Given the description of an element on the screen output the (x, y) to click on. 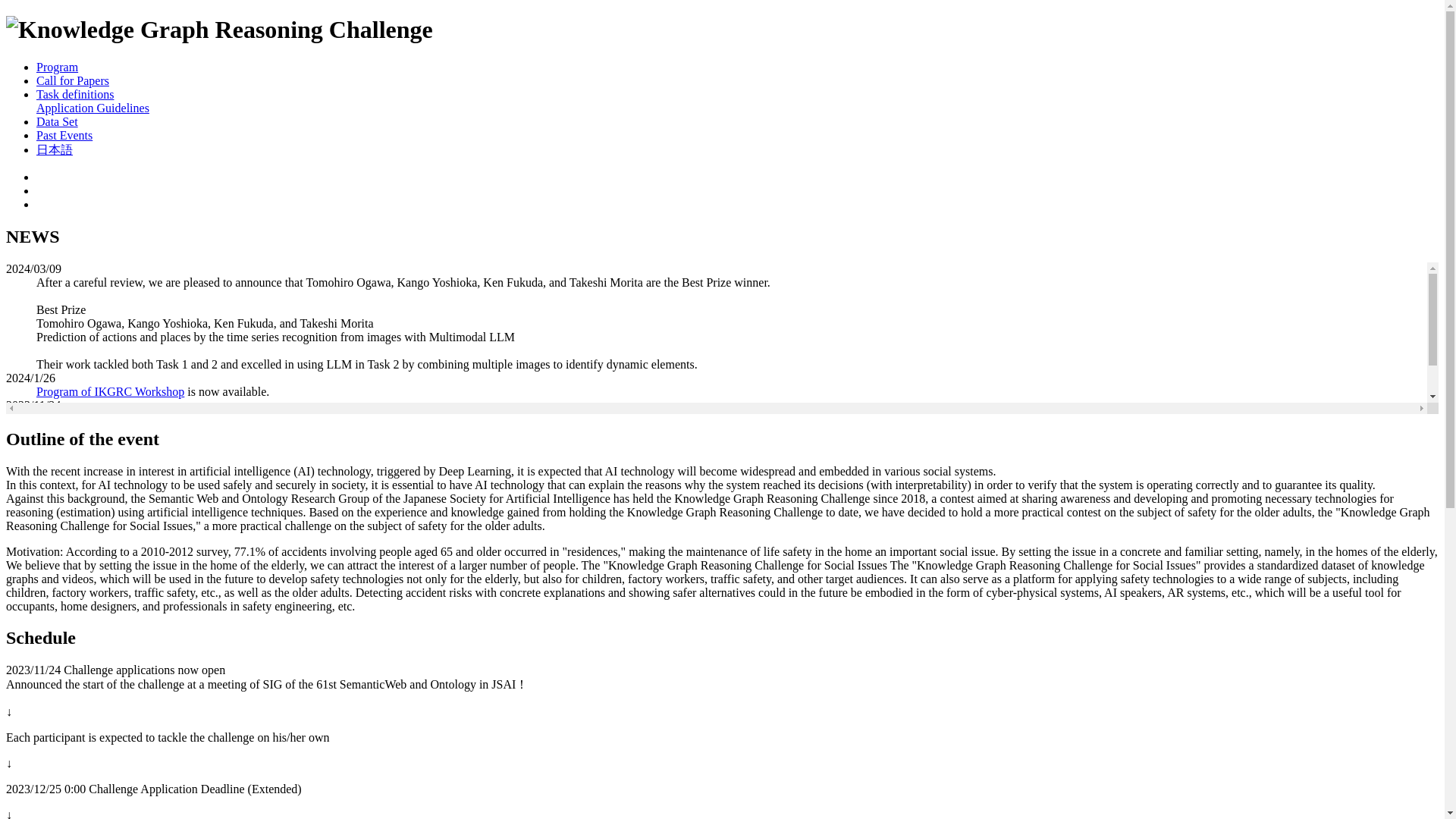
Past Events (64, 134)
Data Set (57, 121)
Program (57, 66)
Call for Papers (72, 80)
Program of IKGRC Workshop (110, 391)
